Given the description of an element on the screen output the (x, y) to click on. 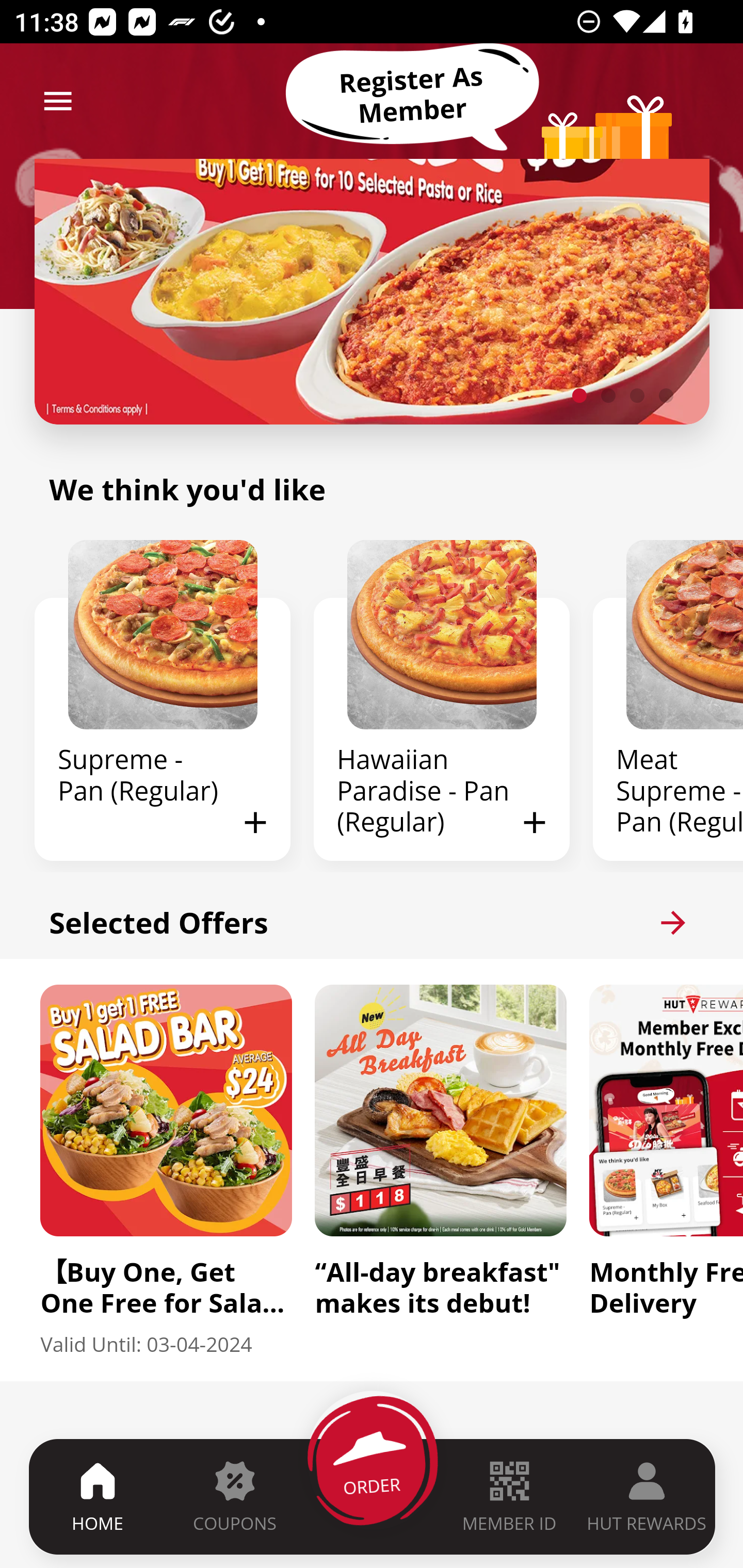
Register As Member (411, 95)
menu (58, 100)
arrow_forward (672, 922)
HOME (97, 1496)
COUPONS (234, 1496)
ORDER (372, 1496)
MEMBER ID (509, 1496)
HUT REWARDS (647, 1496)
